Given the description of an element on the screen output the (x, y) to click on. 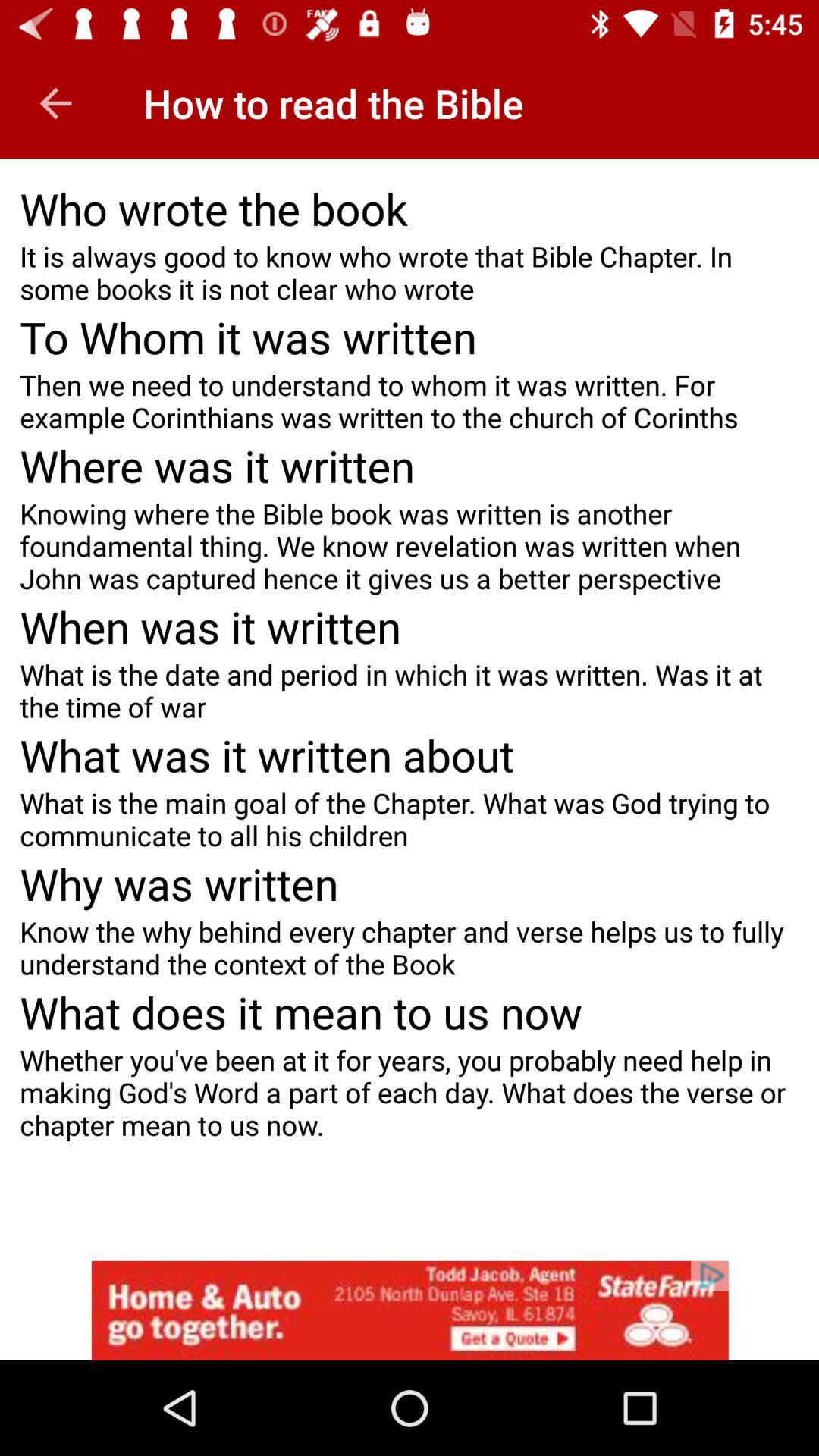
back page (55, 103)
